Given the description of an element on the screen output the (x, y) to click on. 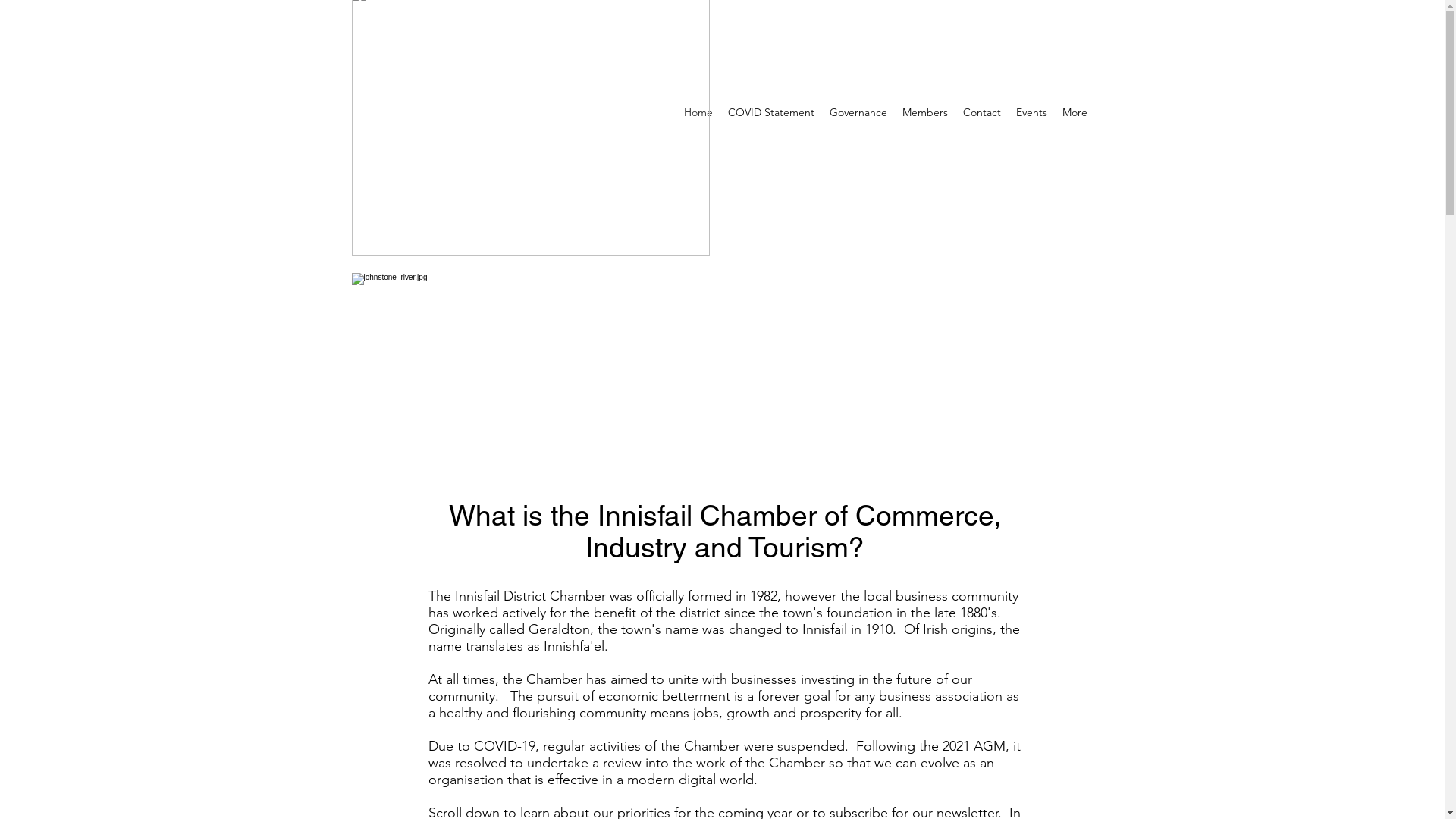
Home Element type: text (698, 112)
Events Element type: text (1031, 112)
Governance Element type: text (858, 112)
Members Element type: text (924, 112)
COVID Statement Element type: text (771, 112)
Contact Element type: text (981, 112)
